Given the description of an element on the screen output the (x, y) to click on. 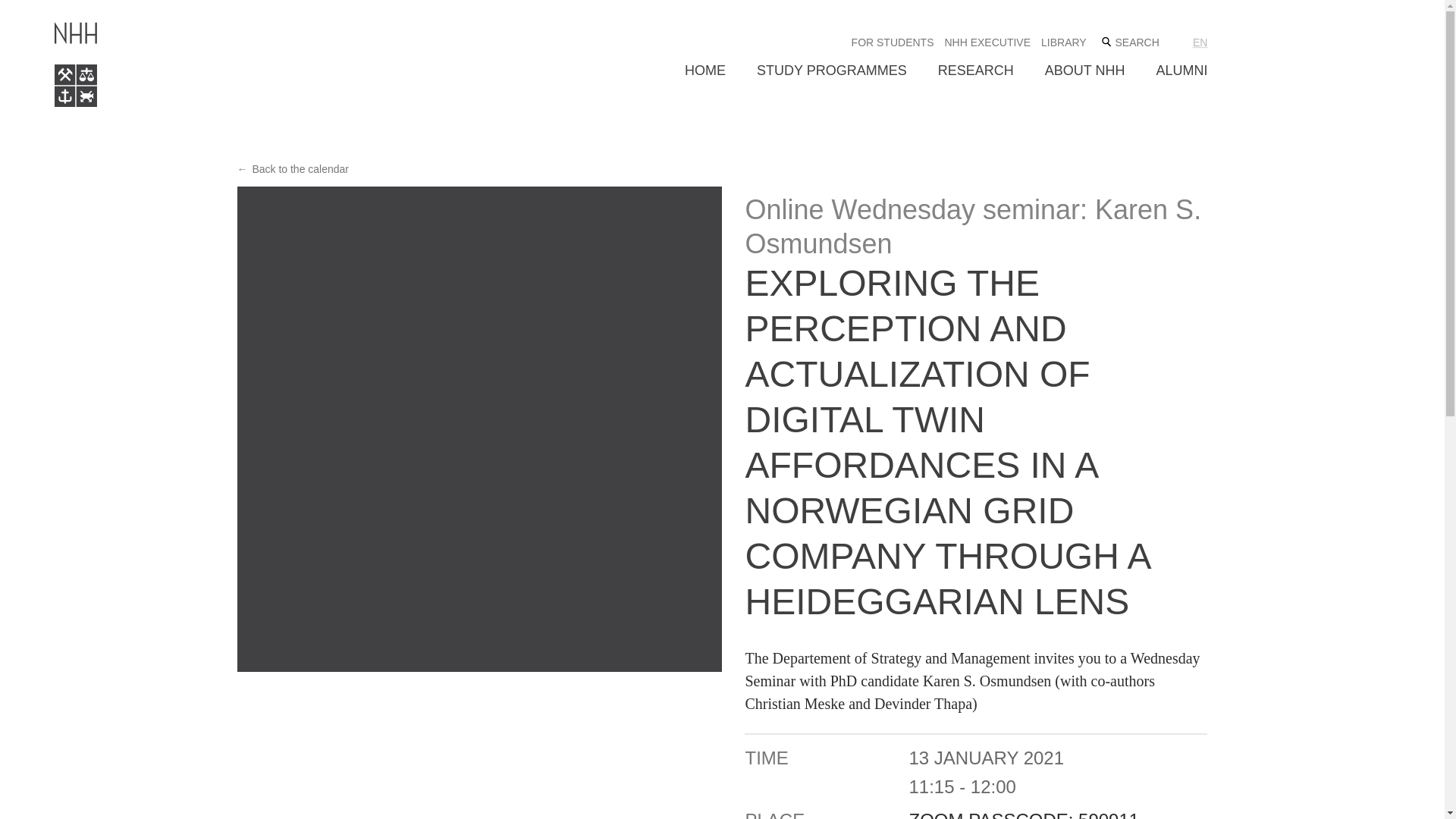
ABOUT NHH (1085, 71)
EN (1199, 41)
STUDY PROGRAMMES (832, 71)
Back to the calendar (292, 168)
FOR STUDENTS (892, 41)
HOME (704, 71)
ALUMNI (1181, 71)
RESEARCH (975, 71)
LIBRARY (1063, 41)
English (1199, 42)
